Given the description of an element on the screen output the (x, y) to click on. 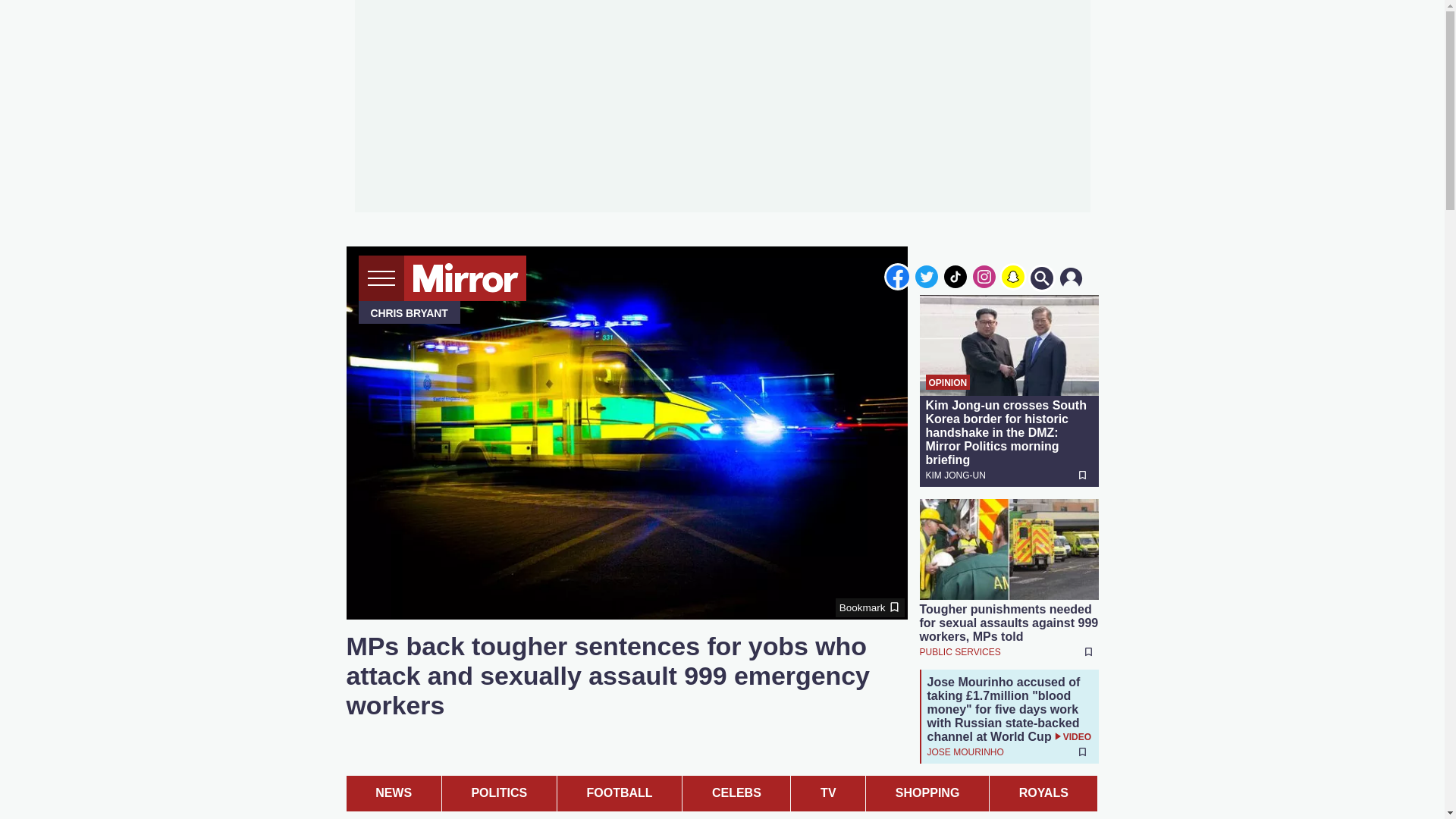
ROYALS (1043, 792)
TV (827, 792)
FOOTBALL (619, 792)
twitter (926, 276)
CELEBS (736, 792)
POLITICS (499, 792)
JOSE MOURINHO (964, 751)
NEWS (393, 792)
instagram (984, 276)
Bookmark (869, 607)
snapchat (1012, 276)
tiktok (955, 276)
